Given the description of an element on the screen output the (x, y) to click on. 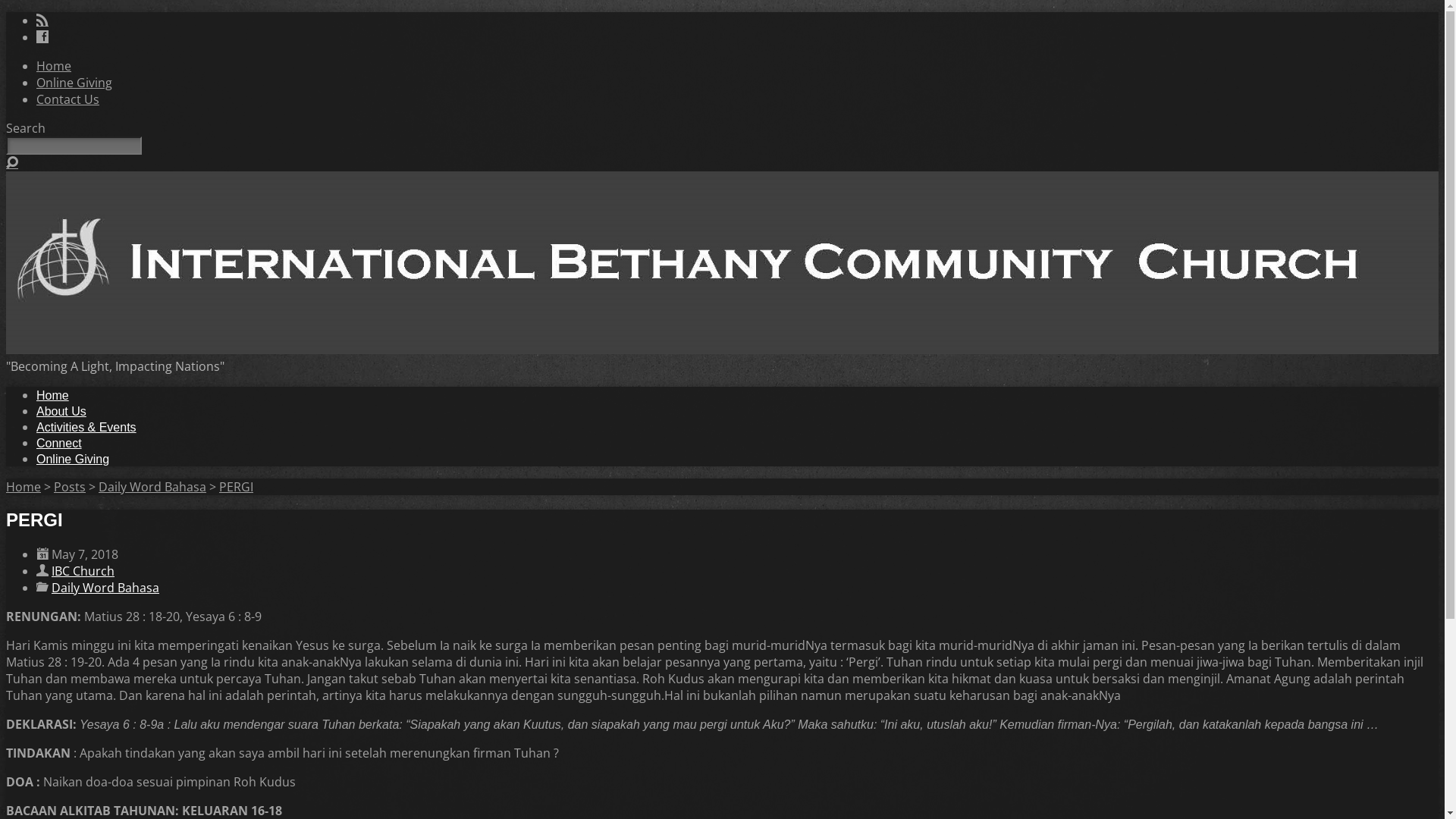
RSS Element type: hover (42, 19)
IBC Church Element type: text (82, 570)
Contact Us Element type: text (67, 99)
Connect Element type: text (737, 443)
Search Element type: hover (12, 162)
Posts Element type: text (69, 486)
Home Element type: text (23, 486)
Home Element type: text (737, 395)
PERGI Element type: text (236, 486)
About Us Element type: text (737, 411)
Online Giving Element type: text (737, 459)
Daily Word Bahasa Element type: text (105, 587)
Online Giving Element type: text (74, 82)
Daily Word Bahasa Element type: text (152, 486)
Activities & Events Element type: text (737, 427)
Facebook Element type: hover (42, 36)
Home Element type: text (53, 65)
